Given the description of an element on the screen output the (x, y) to click on. 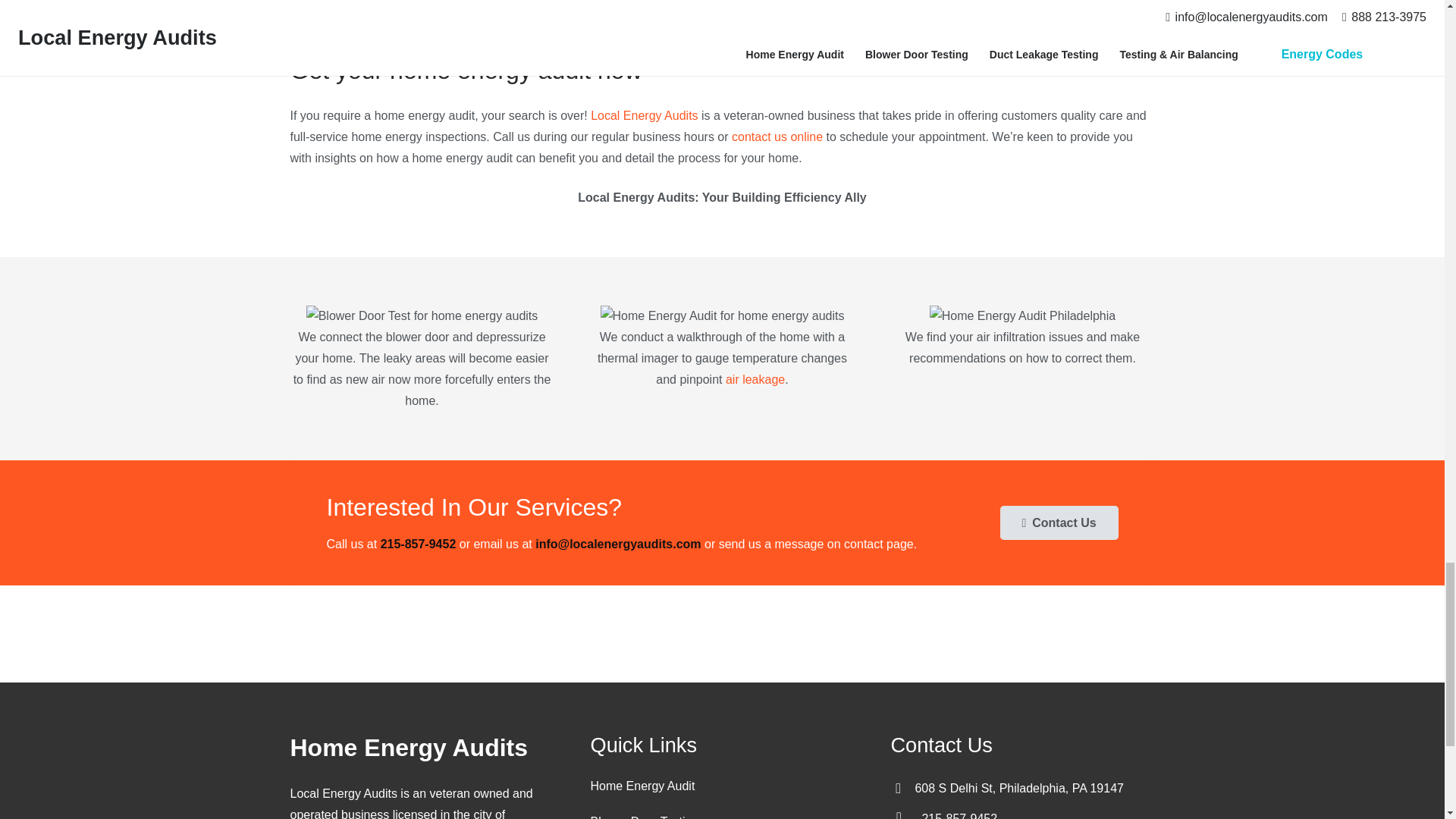
Contact Us (1059, 522)
